Given the description of an element on the screen output the (x, y) to click on. 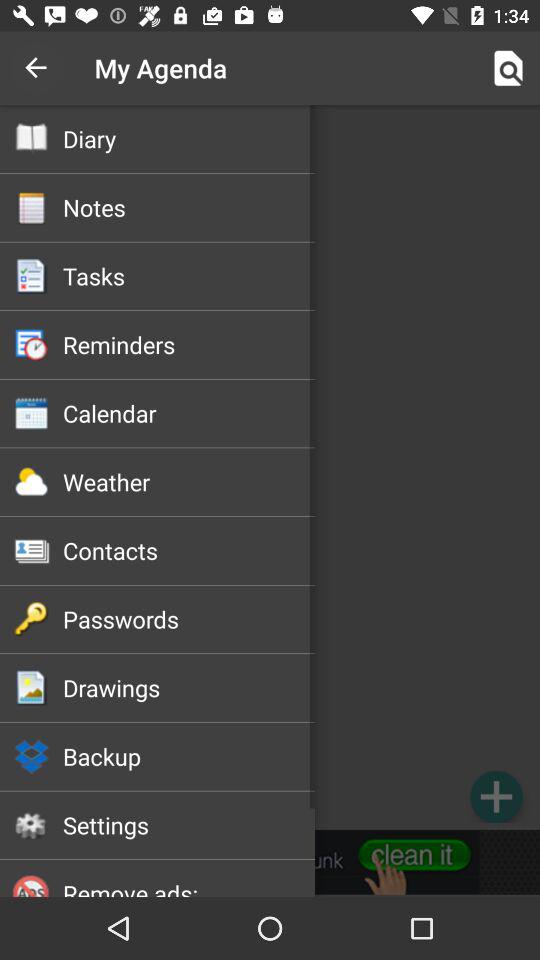
turn on contacts icon (188, 550)
